Given the description of an element on the screen output the (x, y) to click on. 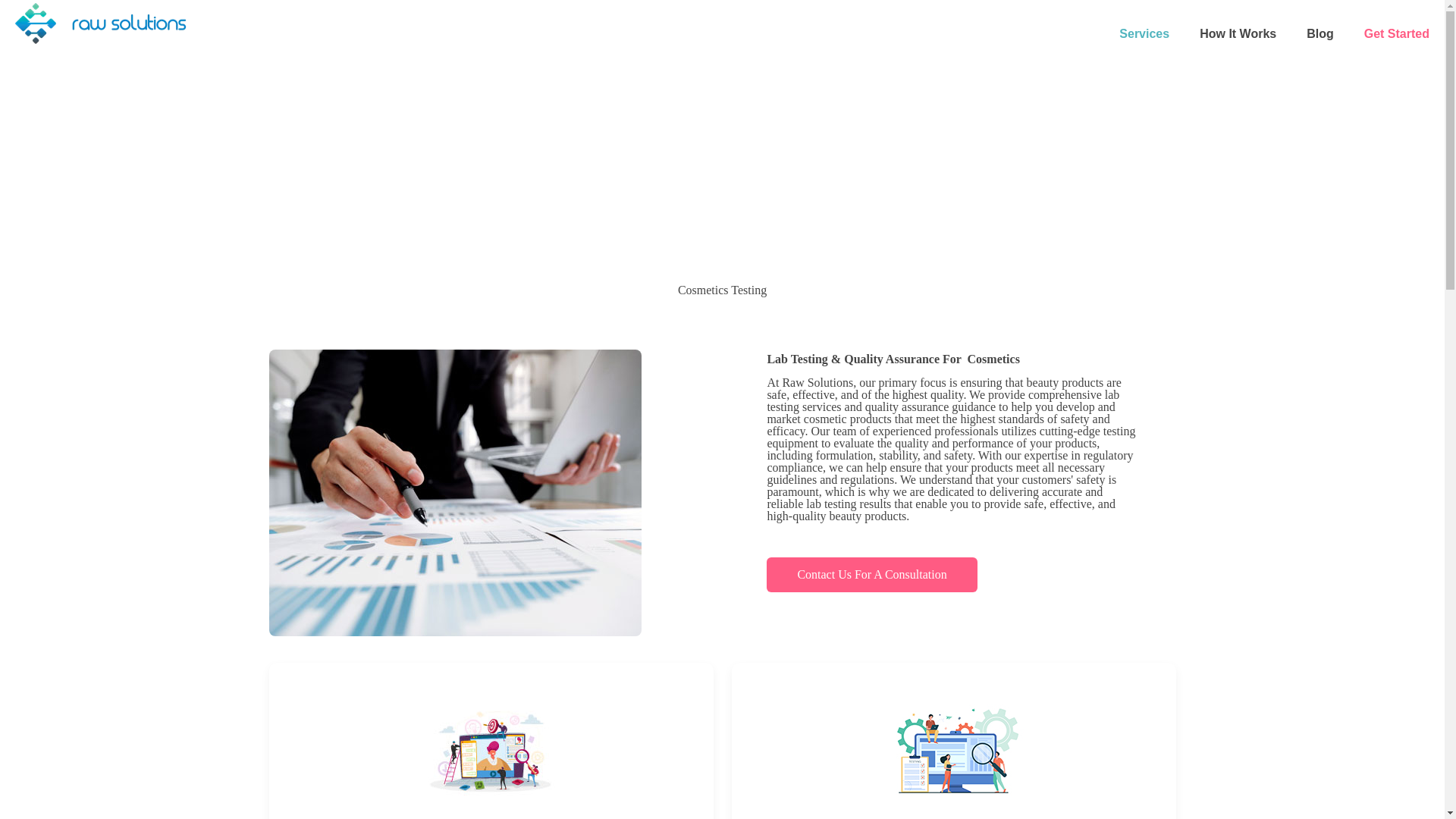
Services (1144, 33)
Raw Solutions (100, 22)
Contact Us For A Consultation (871, 574)
How It Works (1238, 33)
